Given the description of an element on the screen output the (x, y) to click on. 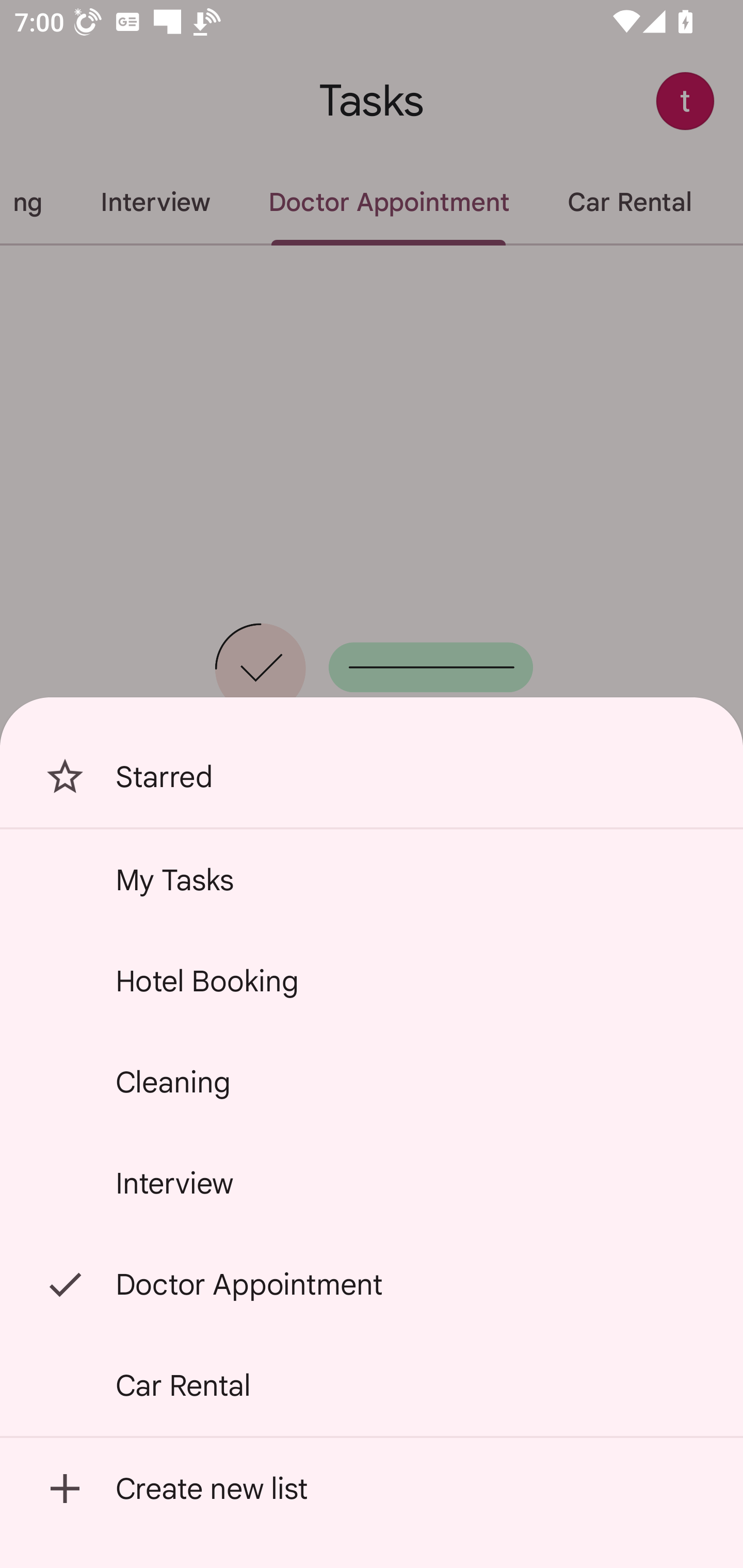
Starred (371, 776)
My Tasks (371, 879)
Hotel Booking (371, 980)
Cleaning (371, 1081)
Interview (371, 1183)
Doctor Appointment (371, 1284)
Car Rental (371, 1385)
Create new list (371, 1488)
